Given the description of an element on the screen output the (x, y) to click on. 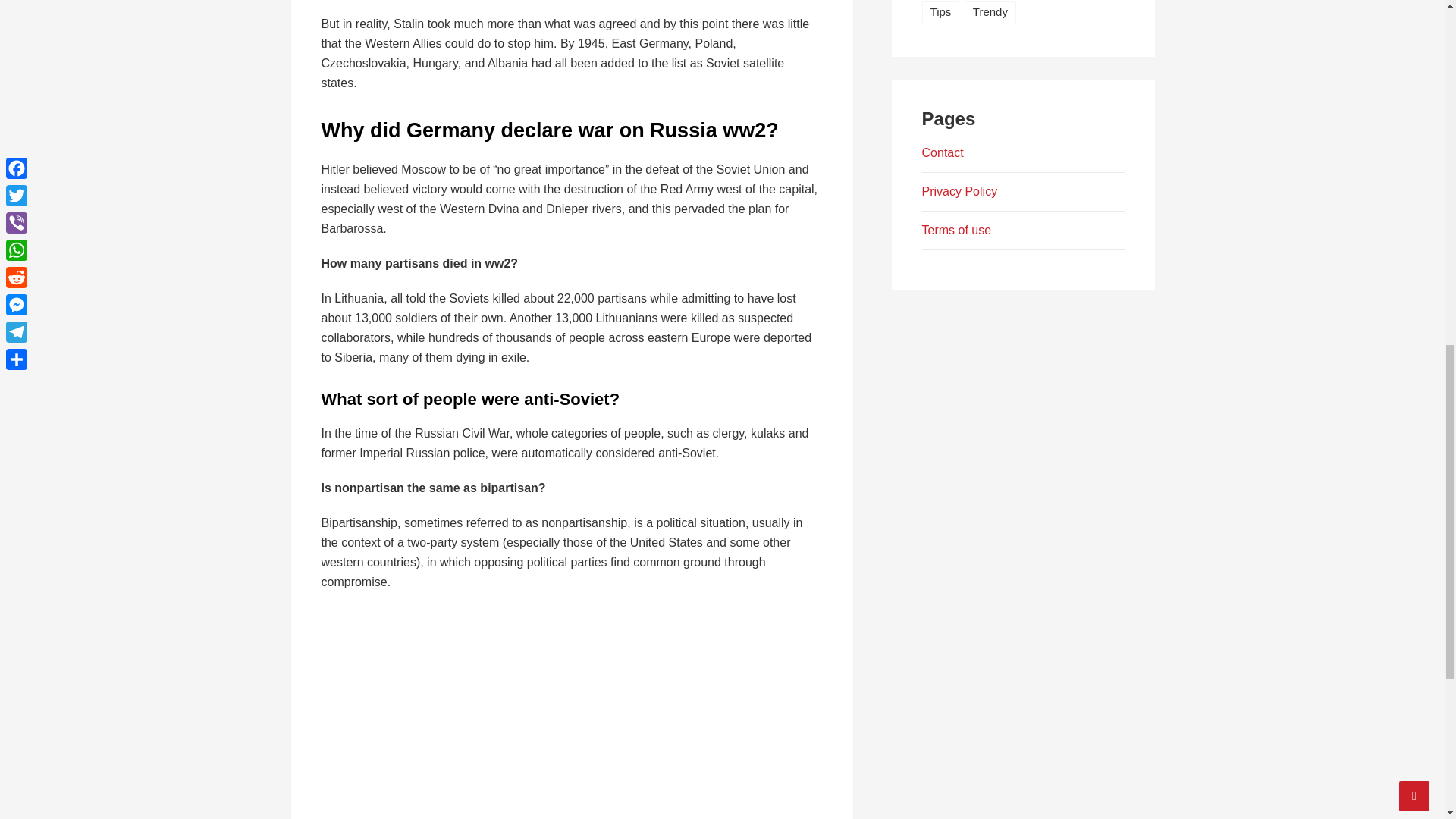
Terms of use (956, 229)
Privacy Policy (959, 191)
Trendy (989, 11)
Contact (942, 152)
Tips (940, 11)
